Given the description of an element on the screen output the (x, y) to click on. 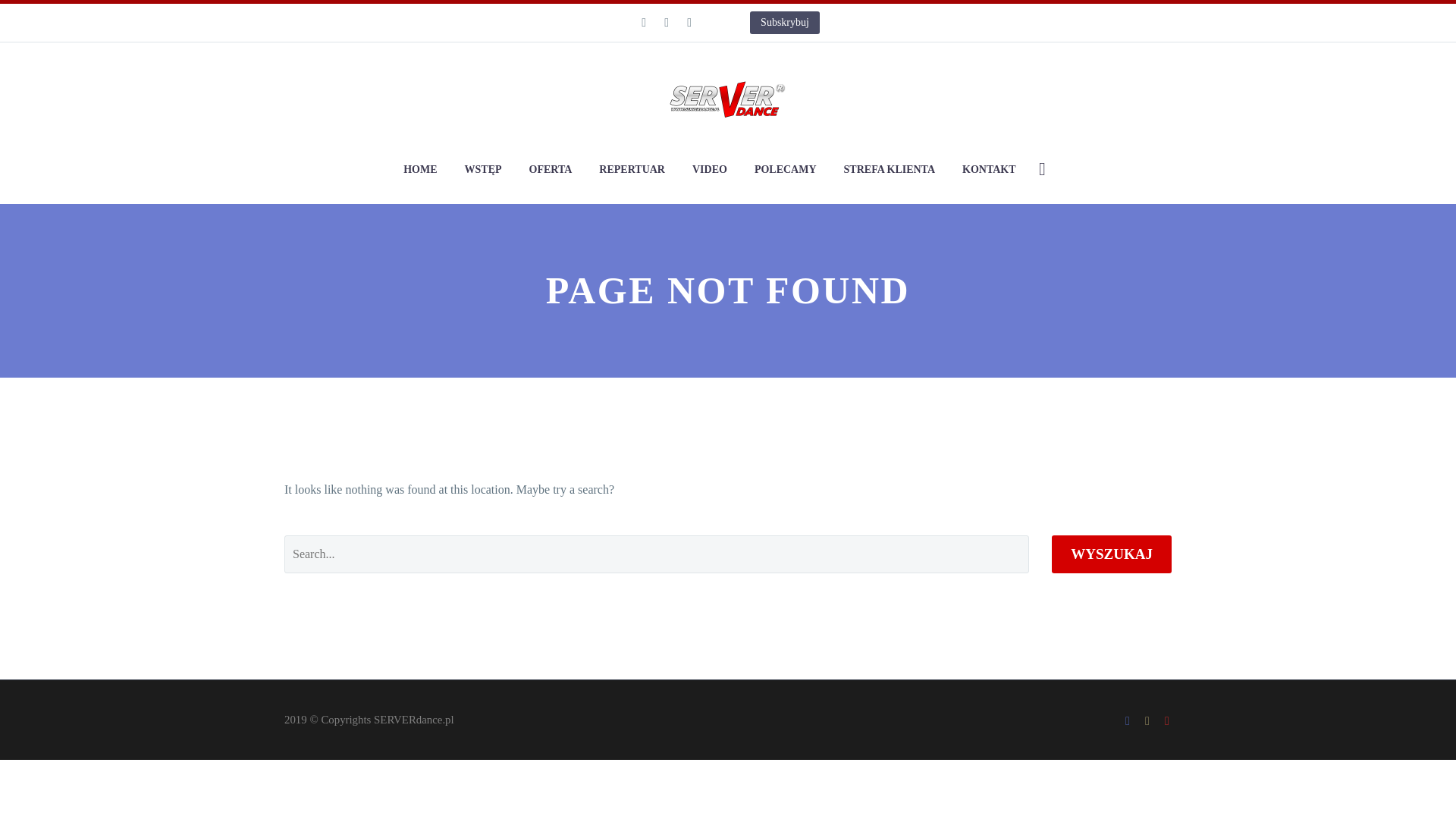
Facebook (1127, 720)
STREFA KLIENTA (889, 169)
Facebook (643, 22)
HOME (419, 169)
OFERTA (550, 169)
Subskrybuj (784, 22)
POLECAMY (785, 169)
WYSZUKAJ (1111, 554)
YouTube (689, 22)
s (1195, 250)
